Given the description of an element on the screen output the (x, y) to click on. 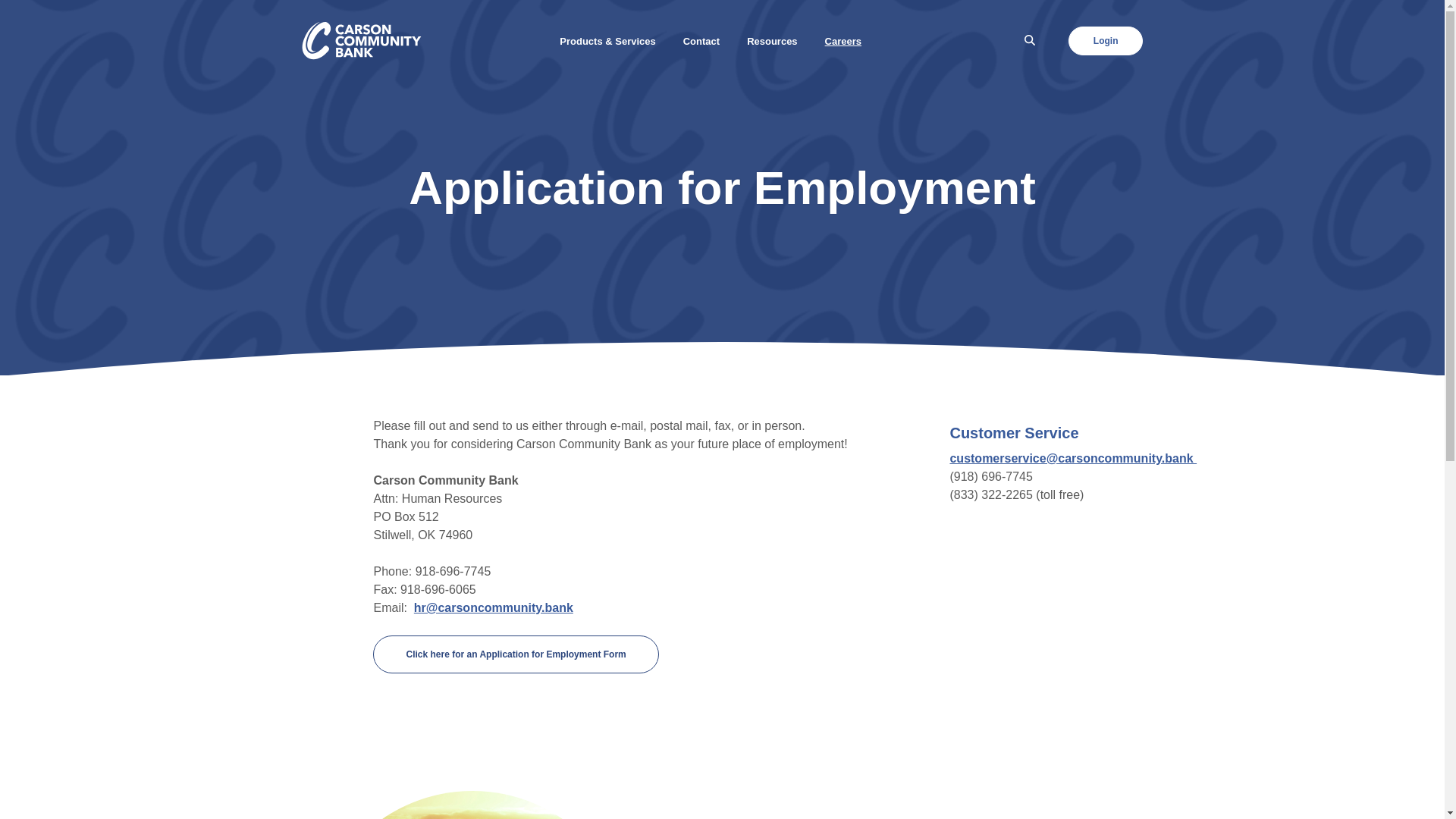
Careers Element type: text (843, 40)
Login Element type: text (1105, 39)
hr@carsoncommunity.bank
(Opens in a new Window) Element type: text (493, 607)
SEARCH Element type: text (1030, 40)
Carson Community Bank, Stilwell, OK Element type: hover (361, 40)
Click here for an Application for Employment Form Element type: text (515, 654)
